Given the description of an element on the screen output the (x, y) to click on. 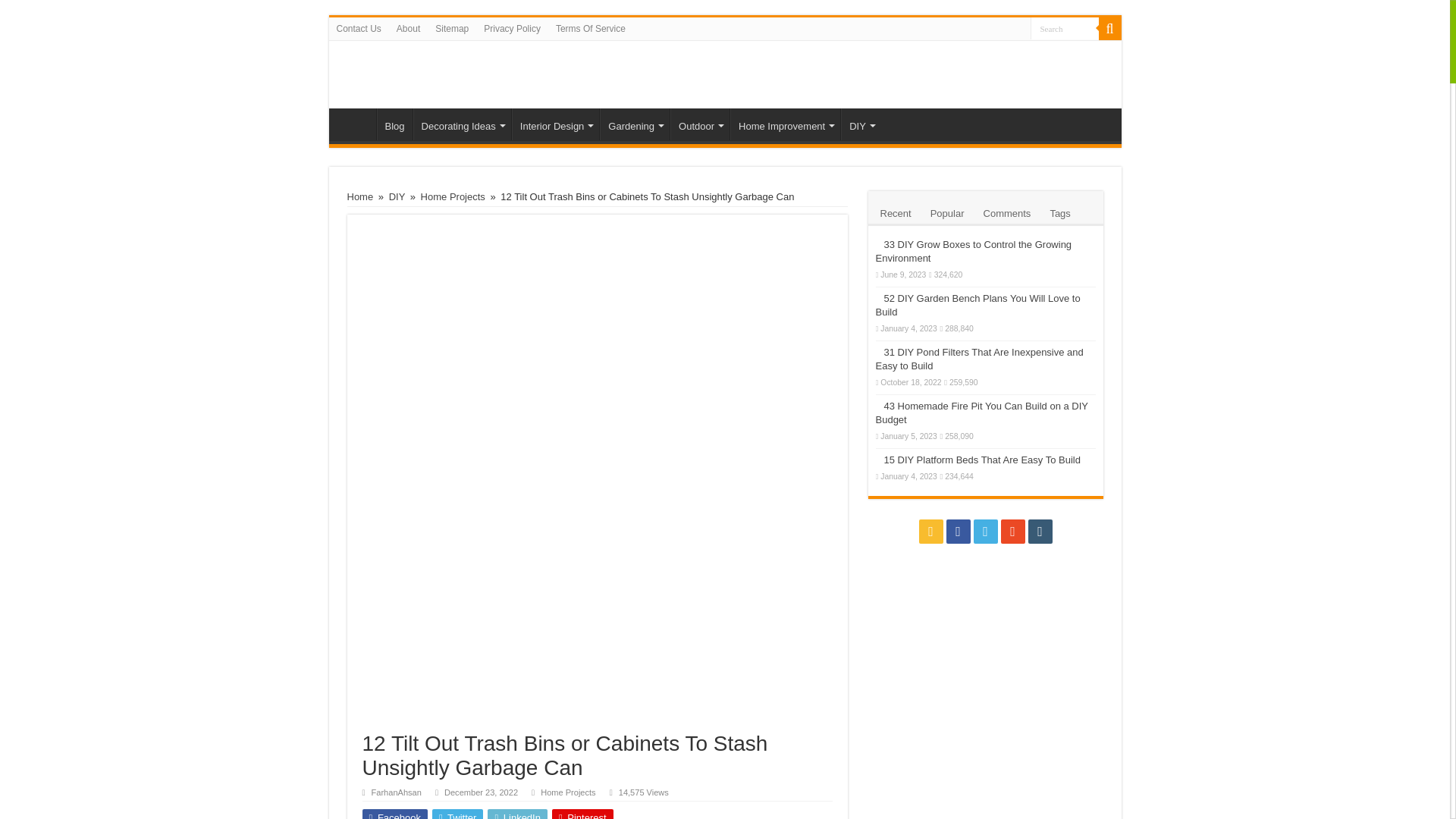
Gardening (634, 124)
Decorating Ideas (462, 124)
Terms Of Service (590, 28)
Privacy Policy (512, 28)
diy (860, 124)
Blog (393, 124)
About (408, 28)
Sitemap (452, 28)
home and gardening ideas (355, 124)
Contact Us (358, 28)
Search (1109, 28)
Search (1063, 28)
Home And Gardening Ideas (406, 74)
Search (1063, 28)
